Given the description of an element on the screen output the (x, y) to click on. 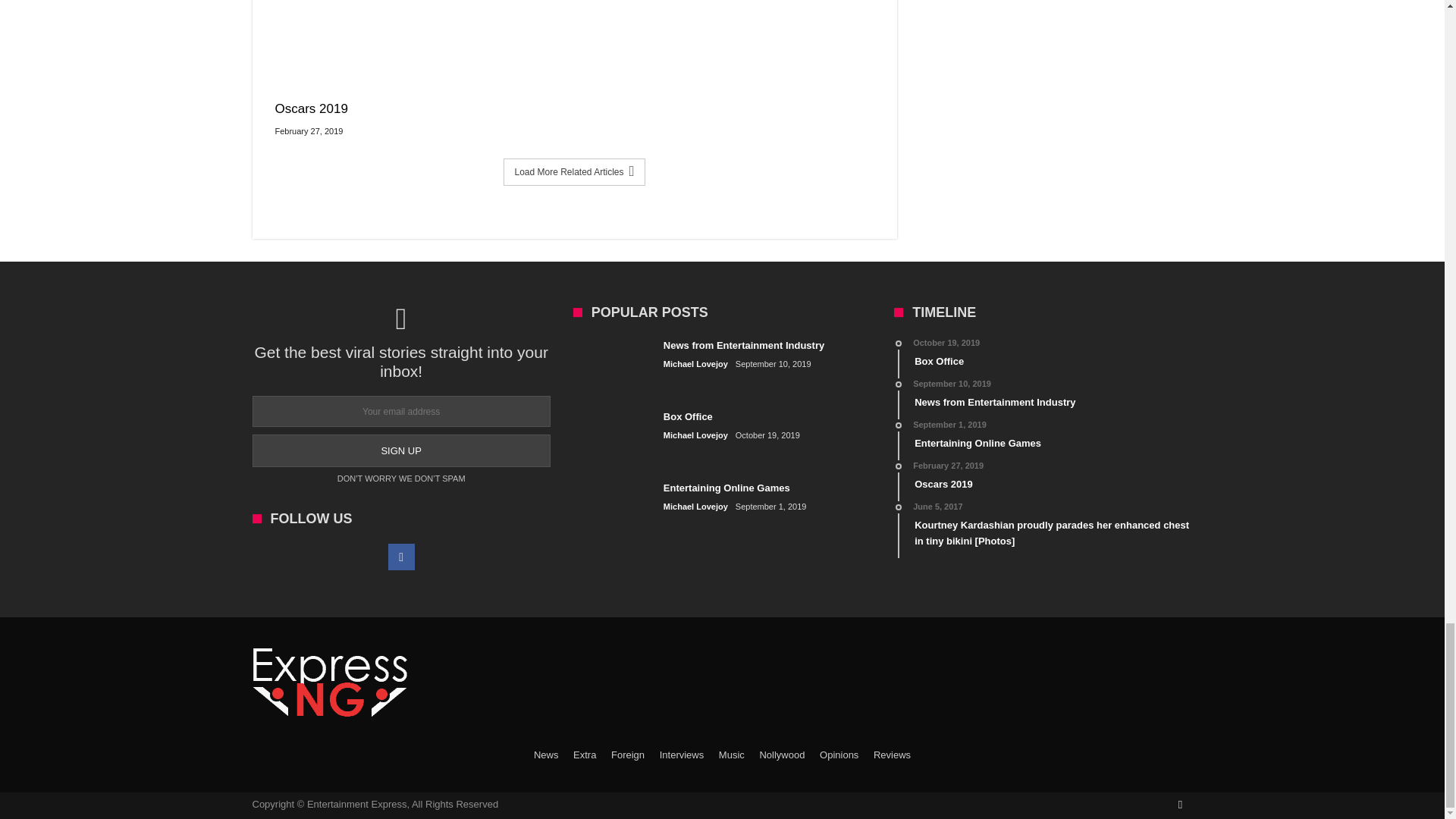
Sign up (400, 450)
Facebook (401, 557)
Posts by Michael Lovejoy (695, 506)
Posts by Michael Lovejoy (695, 435)
Posts by Michael Lovejoy (695, 364)
